Given the description of an element on the screen output the (x, y) to click on. 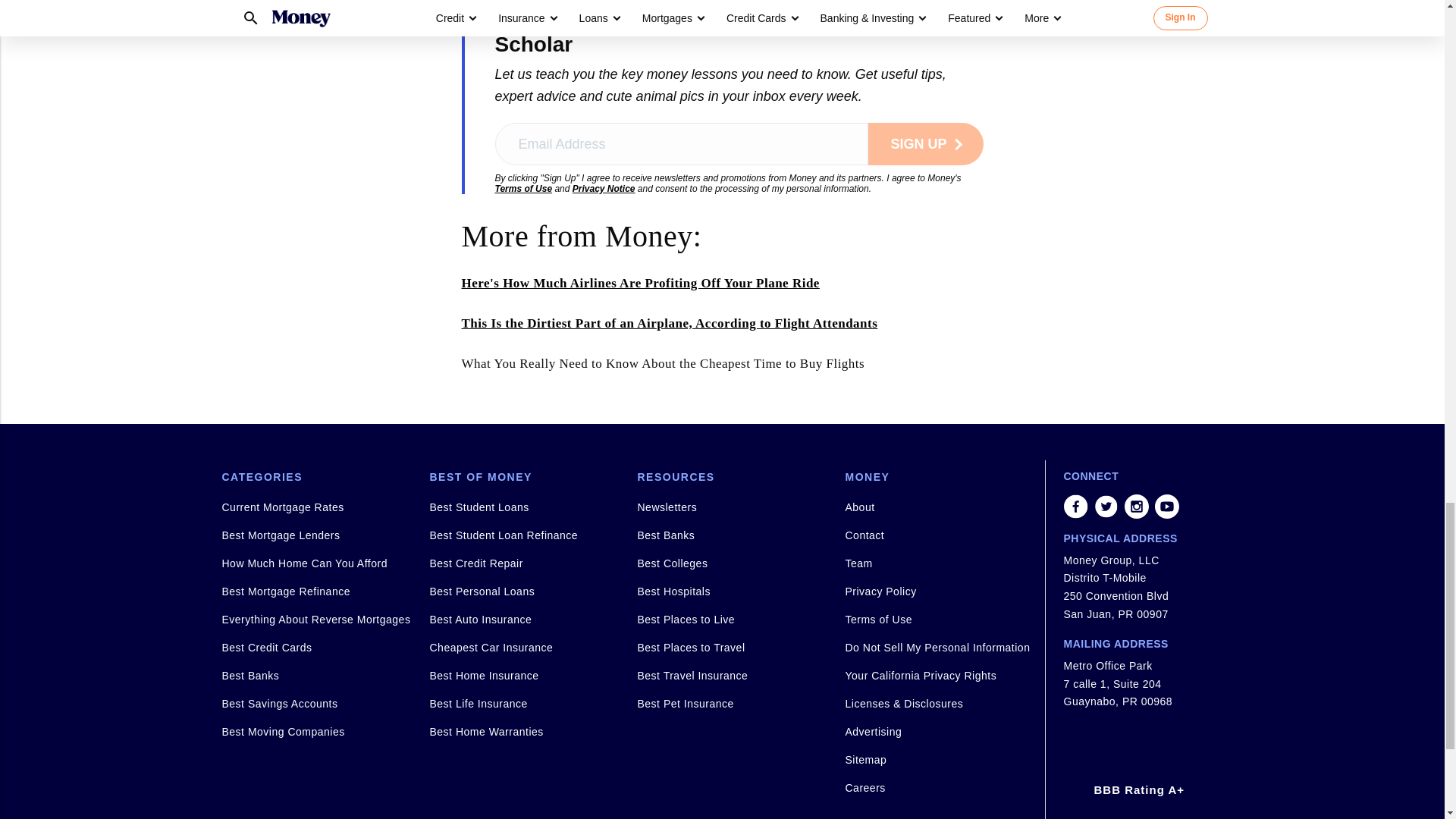
instagram share (1136, 506)
twitter share (1105, 506)
facebook share (1074, 506)
youtube share (1165, 506)
